Given the description of an element on the screen output the (x, y) to click on. 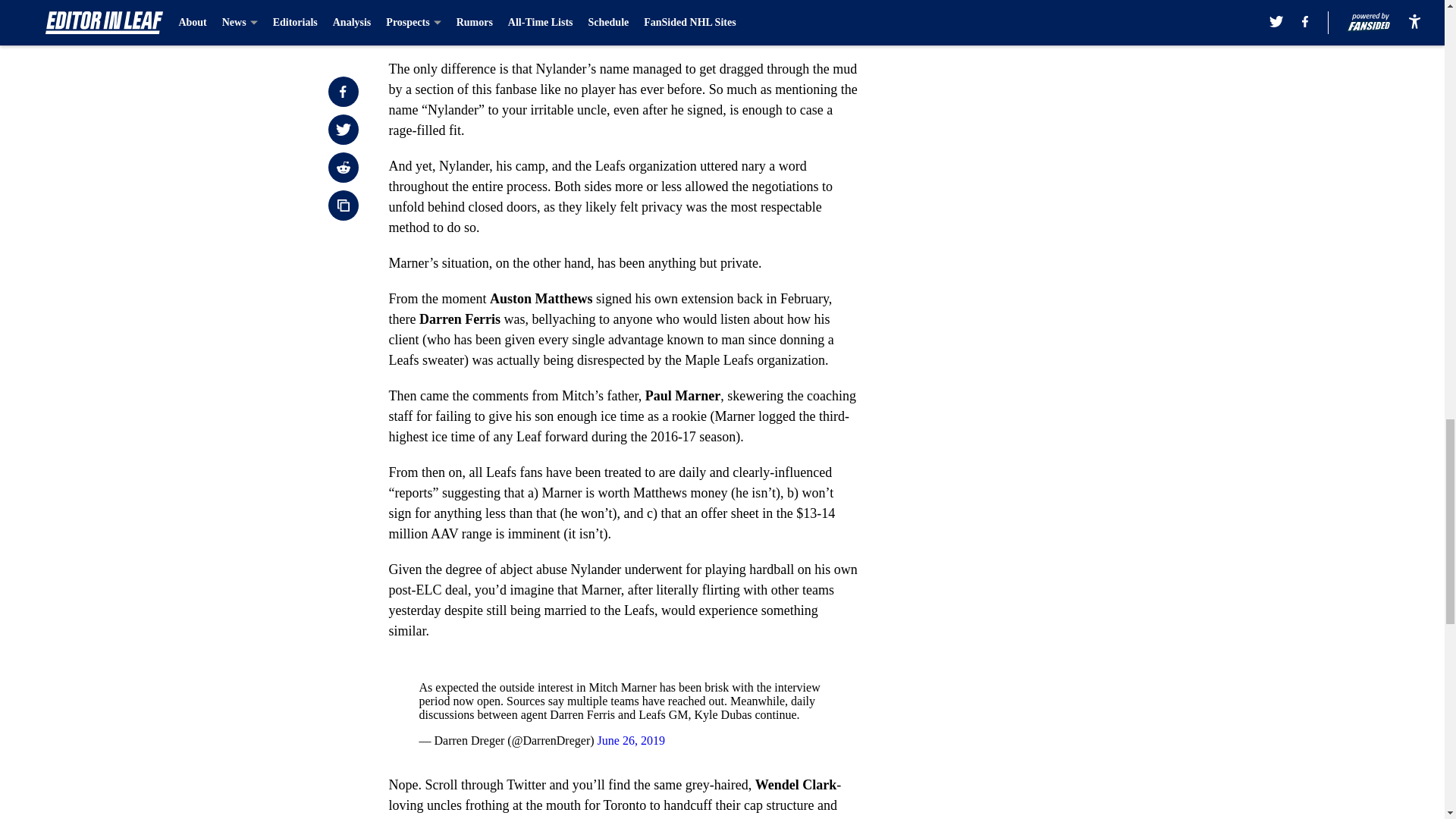
June 26, 2019 (630, 739)
